Given the description of an element on the screen output the (x, y) to click on. 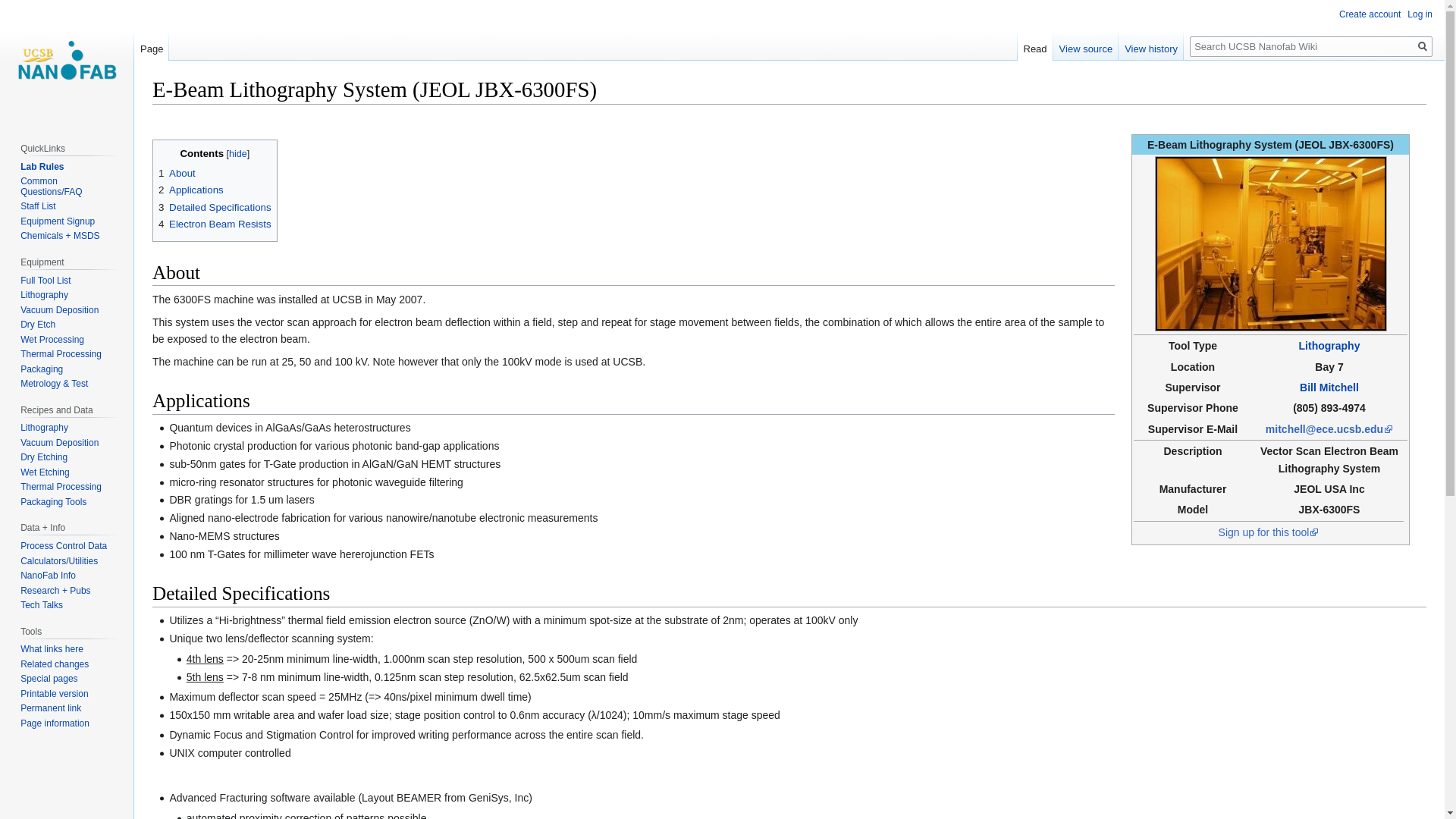
2 Applications (191, 189)
4 Electron Beam Resists (214, 224)
Lithography (44, 427)
View source (1085, 45)
Category:Lithography (1328, 345)
Create account (1369, 14)
Search (1422, 46)
Full Tool List (44, 280)
Dry Etch (37, 324)
1 About (176, 173)
